Given the description of an element on the screen output the (x, y) to click on. 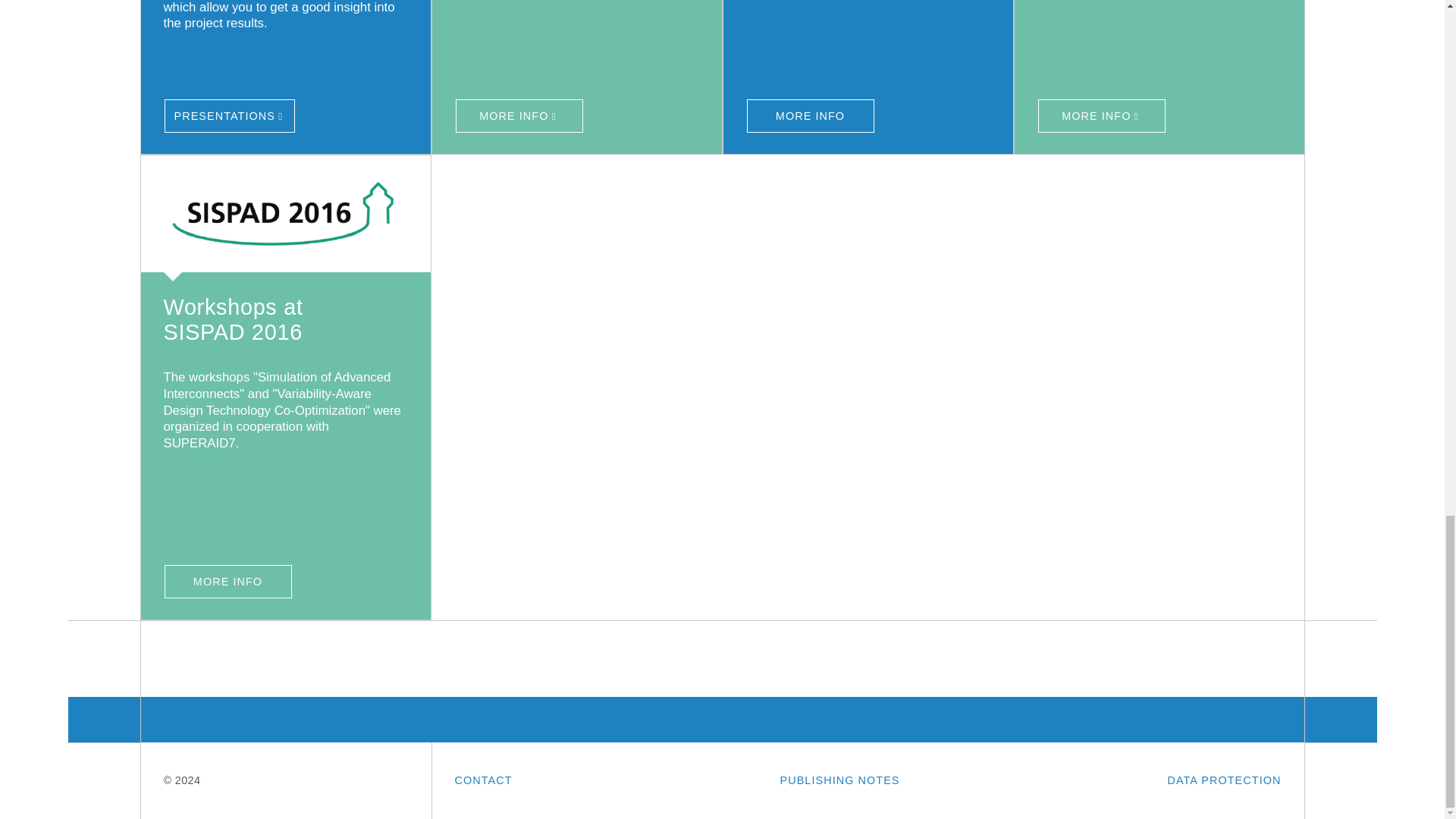
More Info (809, 115)
presentations (229, 115)
more info (285, 218)
more info (227, 581)
